Given the description of an element on the screen output the (x, y) to click on. 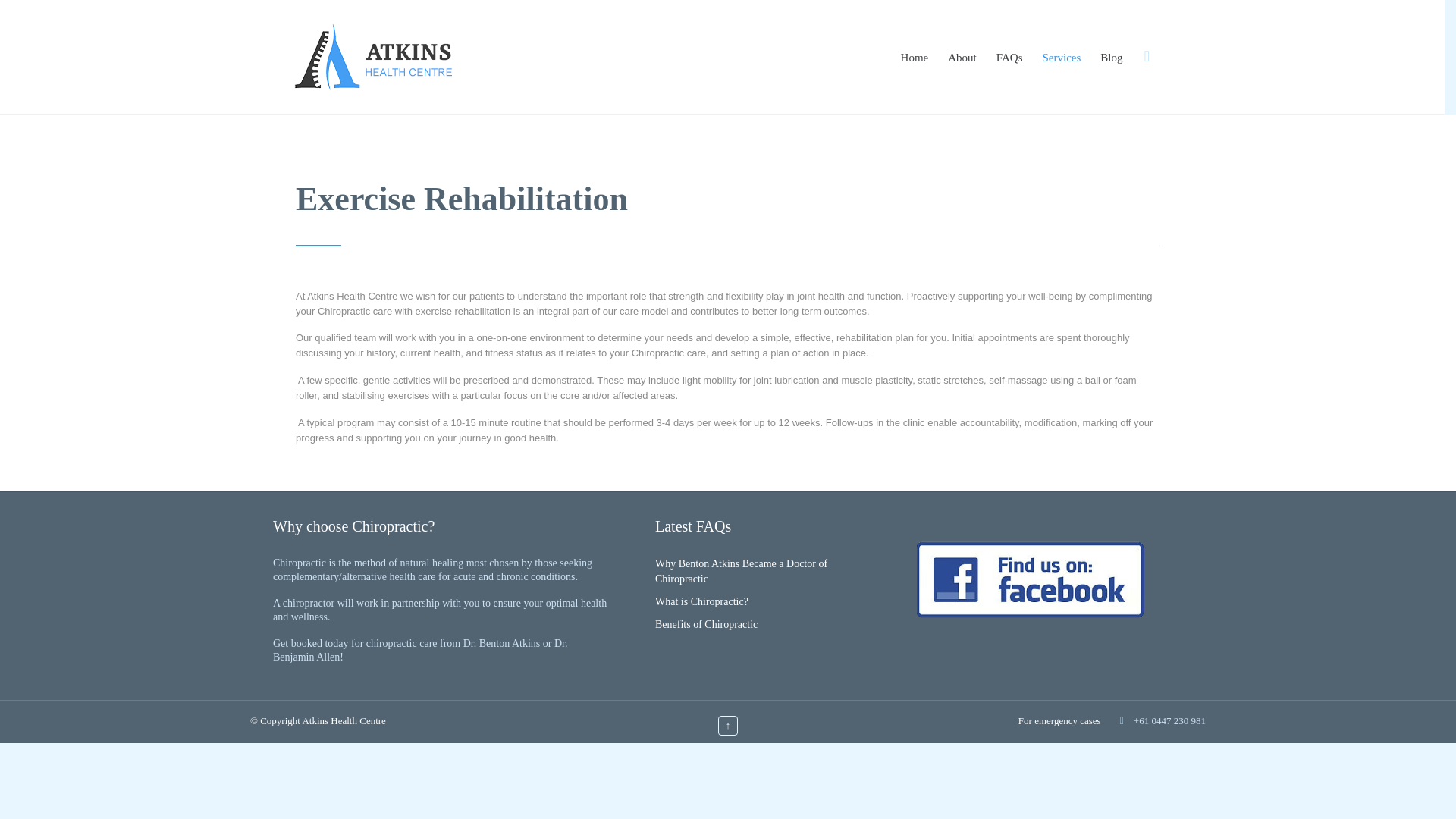
Home (914, 57)
Why Benton Atkins Became a Doctor of Chiropractic (741, 570)
FAQs (1009, 57)
About (962, 57)
Atkins Health Centre (372, 56)
Why Benton Atkins Became a Doctor of Chiropractic (741, 570)
Blog (1111, 57)
Services (1061, 57)
